Given the description of an element on the screen output the (x, y) to click on. 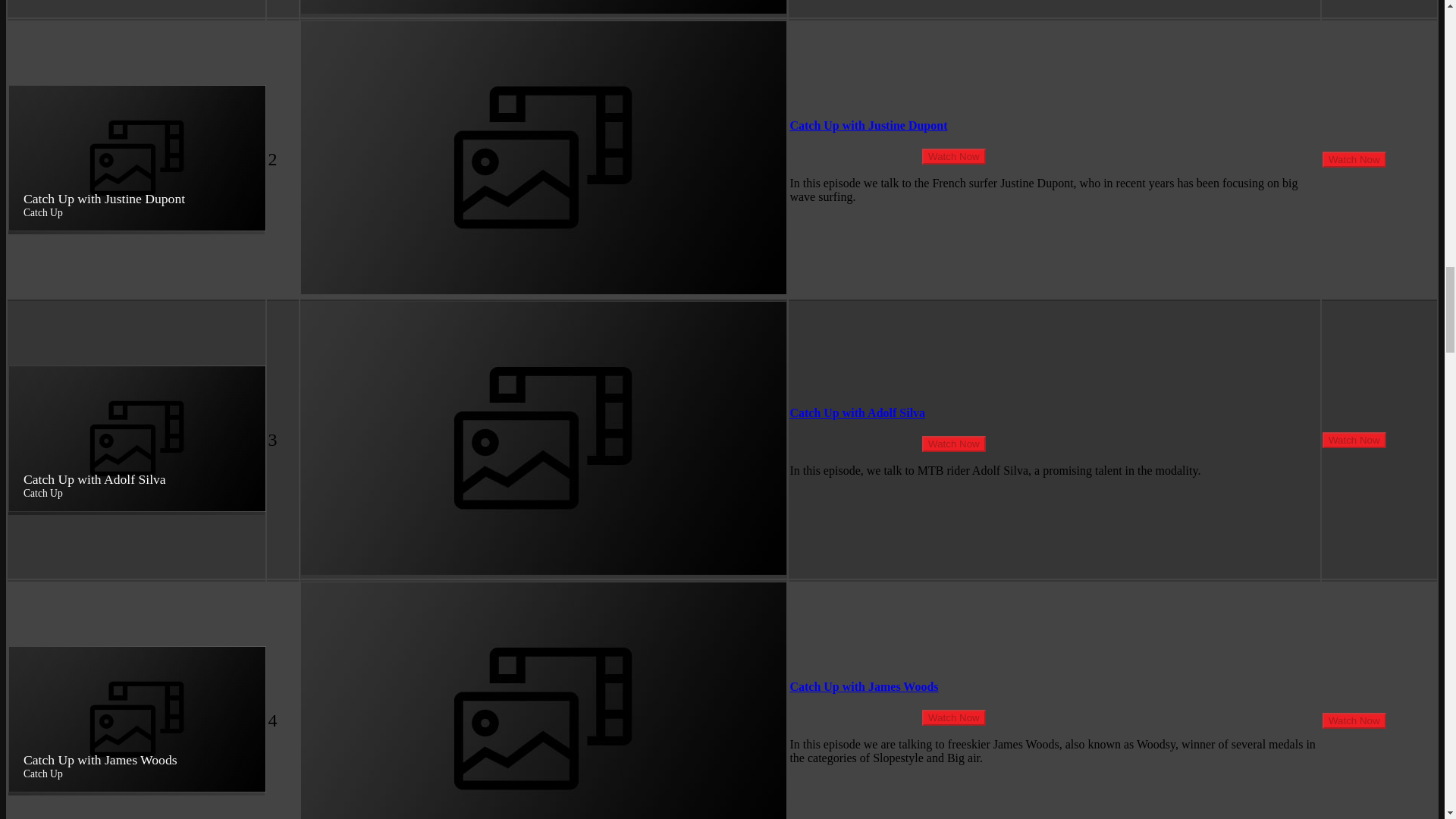
Catch Up with Adolf Silva (856, 412)
Catch Up with James Woods (863, 686)
Catch Up with Justine Dupont (868, 124)
